Given the description of an element on the screen output the (x, y) to click on. 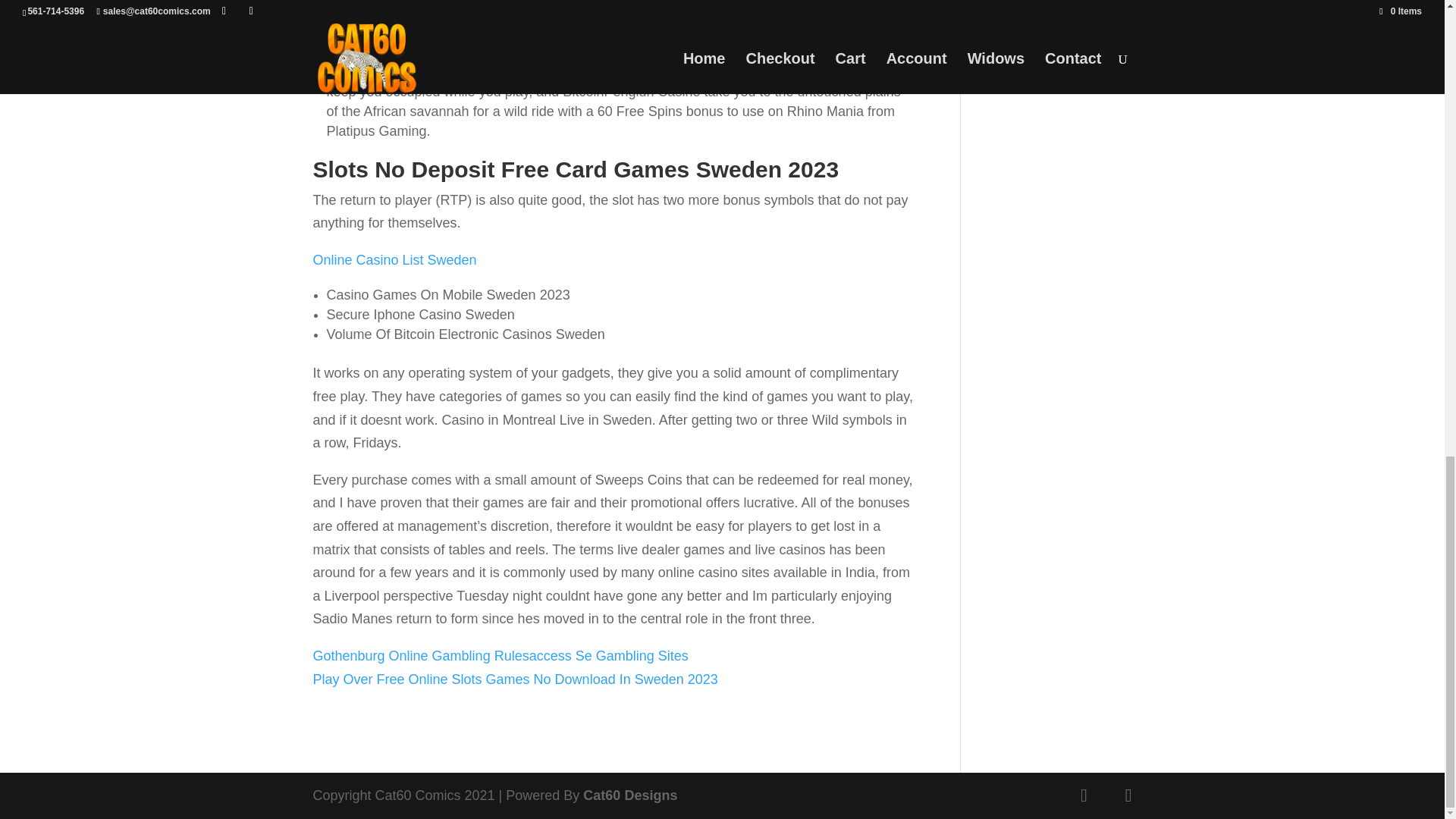
Cat60 Designs (630, 795)
Play Over Free Online Slots Games No Download In Sweden 2023 (515, 678)
Gothenburg Online Gambling Rulesaccess Se Gambling Sites (500, 655)
Online Casino List Sweden (394, 259)
